Given the description of an element on the screen output the (x, y) to click on. 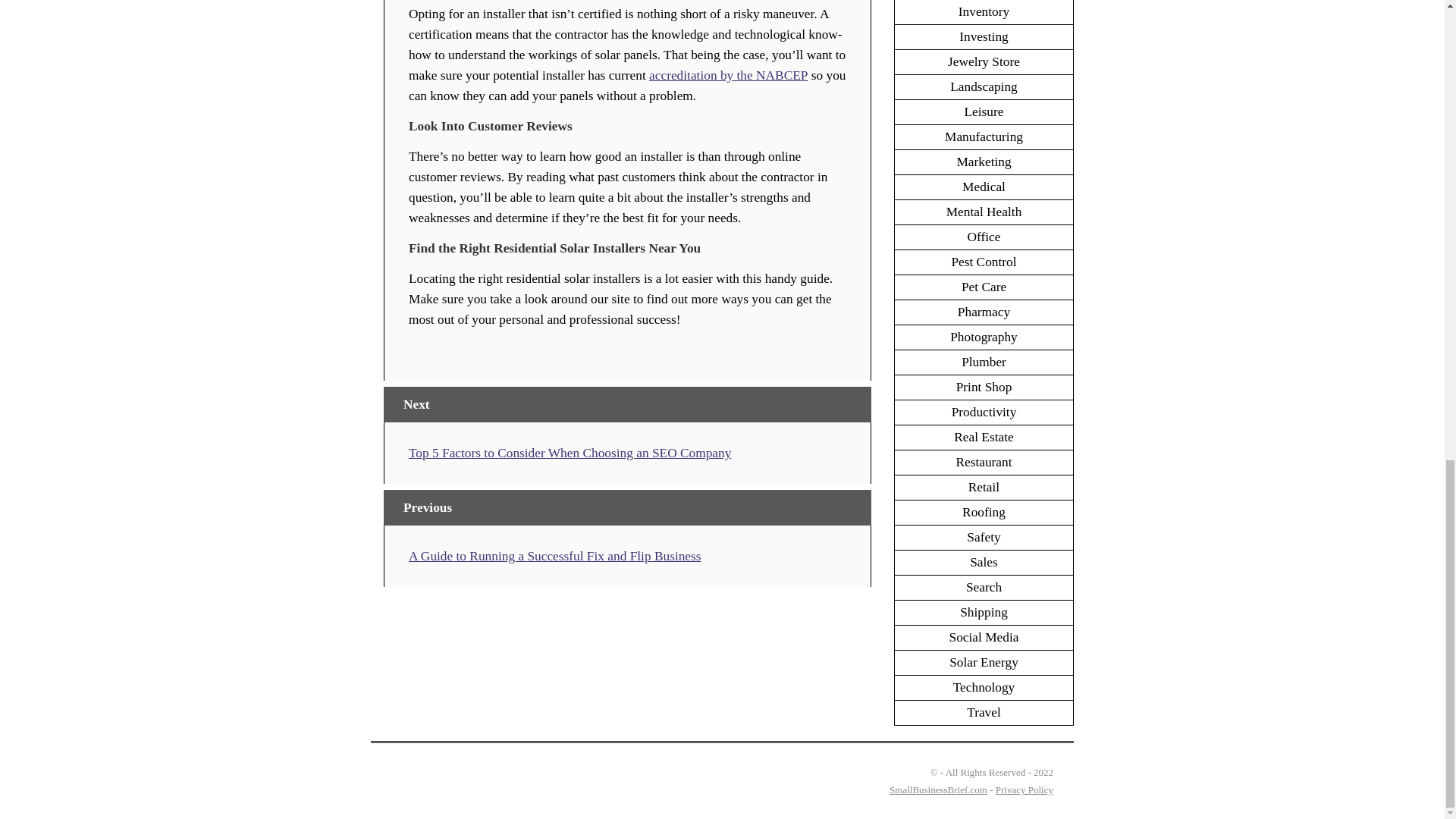
Inventory (983, 11)
Investing (984, 36)
accreditation by the NABCEP (728, 74)
A Guide to Running a Successful Fix and Flip Business (555, 555)
Top 5 Factors to Consider When Choosing an SEO Company (569, 452)
